Given the description of an element on the screen output the (x, y) to click on. 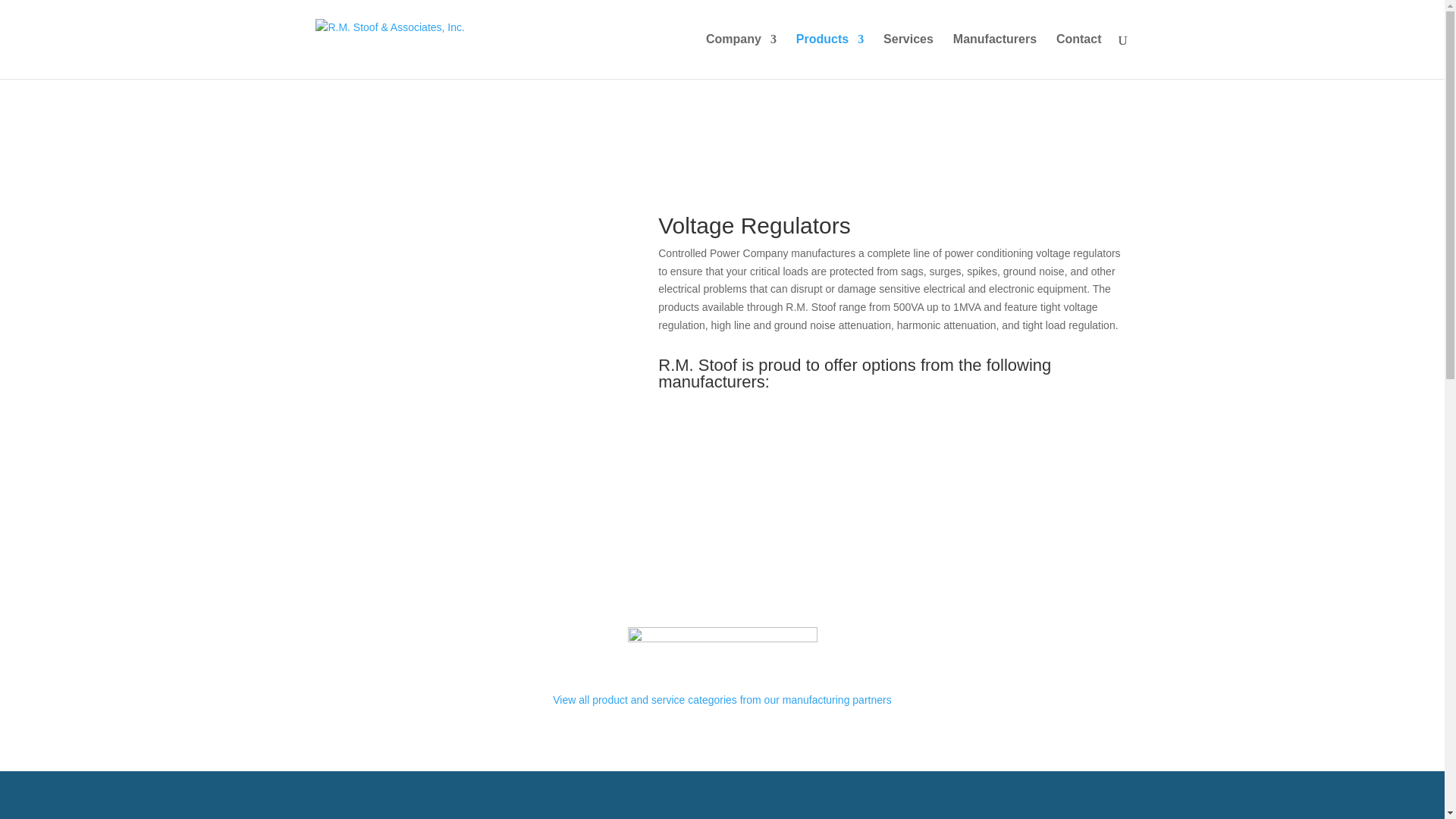
Contact (1079, 56)
logo-controlled-power-company (721, 638)
Products (829, 56)
Manufacturers (994, 56)
Company (741, 56)
Services (908, 56)
